Given the description of an element on the screen output the (x, y) to click on. 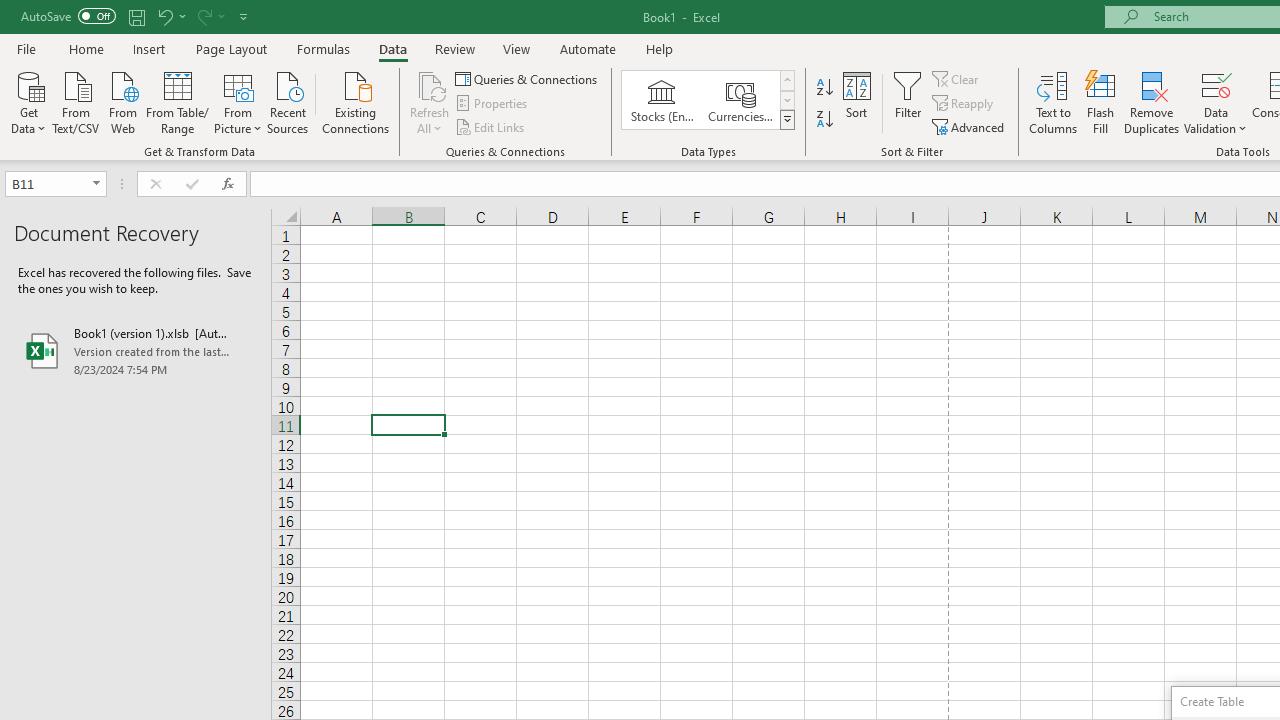
Advanced... (970, 126)
Sort Z to A (824, 119)
Data Types (786, 120)
View (517, 48)
Remove Duplicates (1151, 102)
Row up (786, 79)
AutomationID: ConvertToLinkedEntity (708, 99)
Edit Links (491, 126)
Formulas (323, 48)
Book1 (version 1).xlsb  [AutoRecovered] (136, 350)
From Picture (238, 101)
Reapply (964, 103)
Existing Connections (355, 101)
Data Validation... (1215, 84)
